Given the description of an element on the screen output the (x, y) to click on. 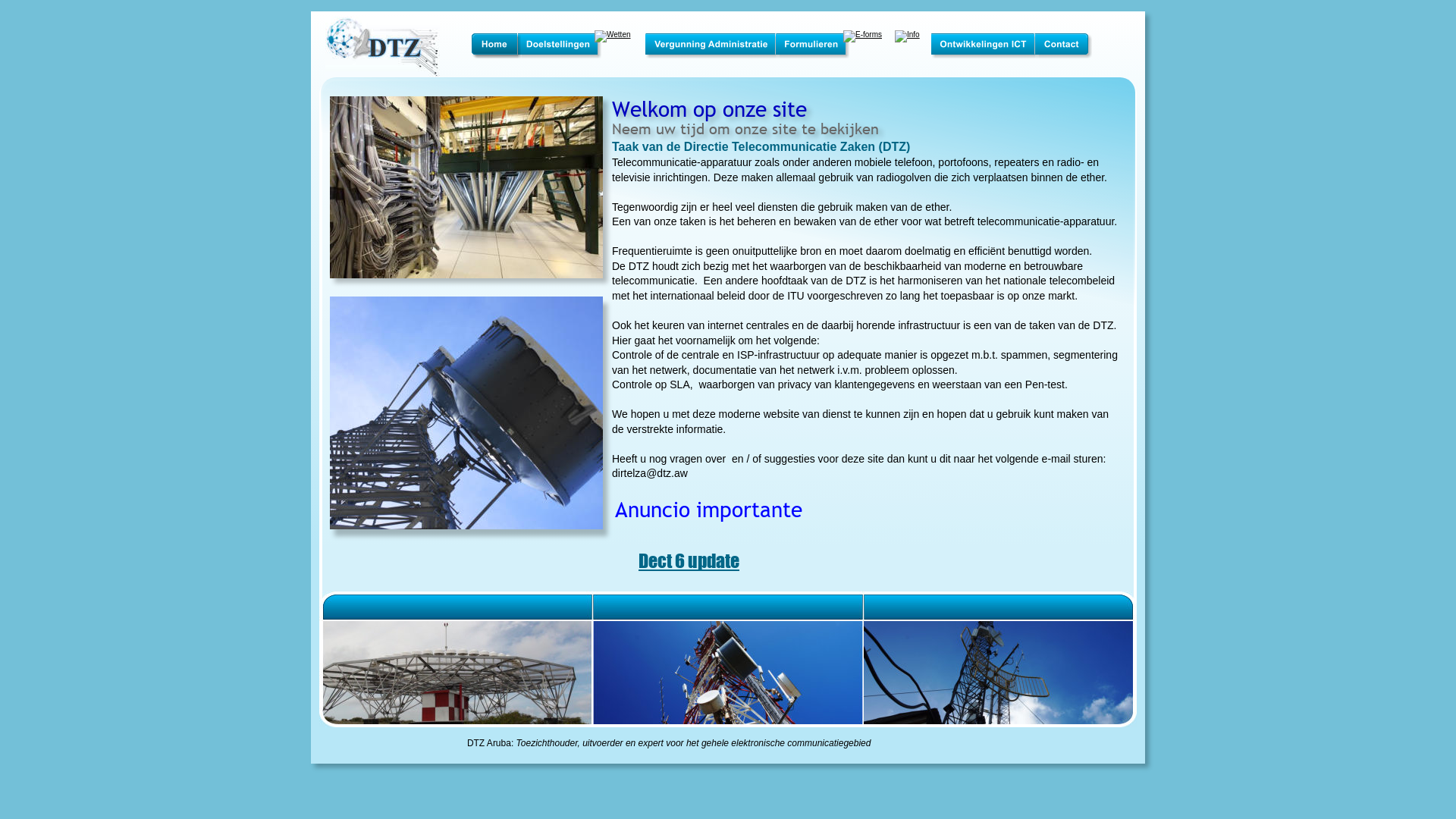
Dect 6 update Element type: text (688, 560)
